Given the description of an element on the screen output the (x, y) to click on. 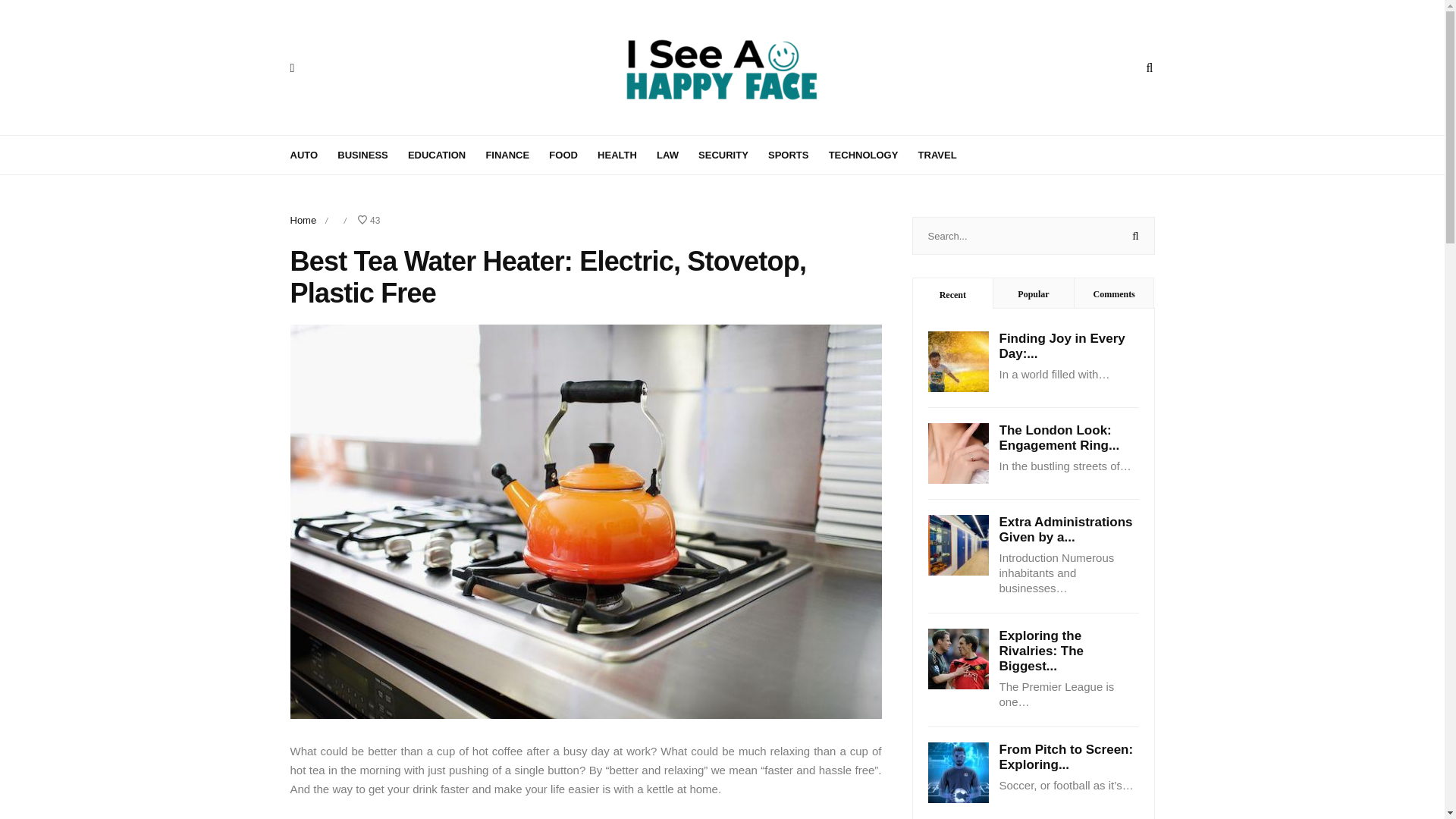
SECURITY (731, 153)
BUSINESS (370, 153)
FOOD (571, 153)
TRAVEL (946, 153)
EDUCATION (444, 153)
LAW (675, 153)
TECHNOLOGY (871, 153)
Like (369, 220)
HEALTH (624, 153)
AUTO (311, 153)
View all posts in Home (302, 220)
FINANCE (515, 153)
SPORTS (796, 153)
